Given the description of an element on the screen output the (x, y) to click on. 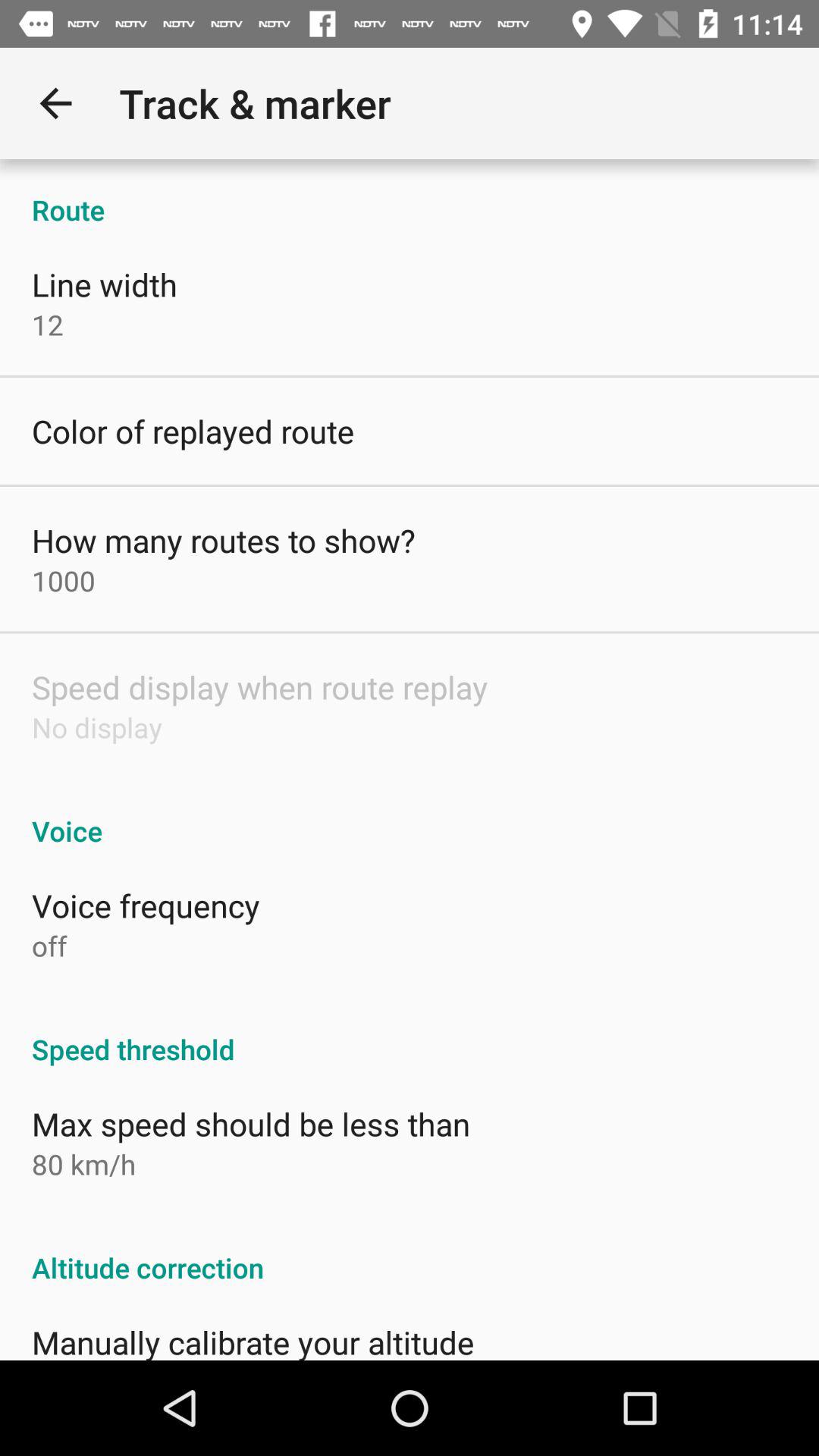
open the item above off icon (145, 905)
